Given the description of an element on the screen output the (x, y) to click on. 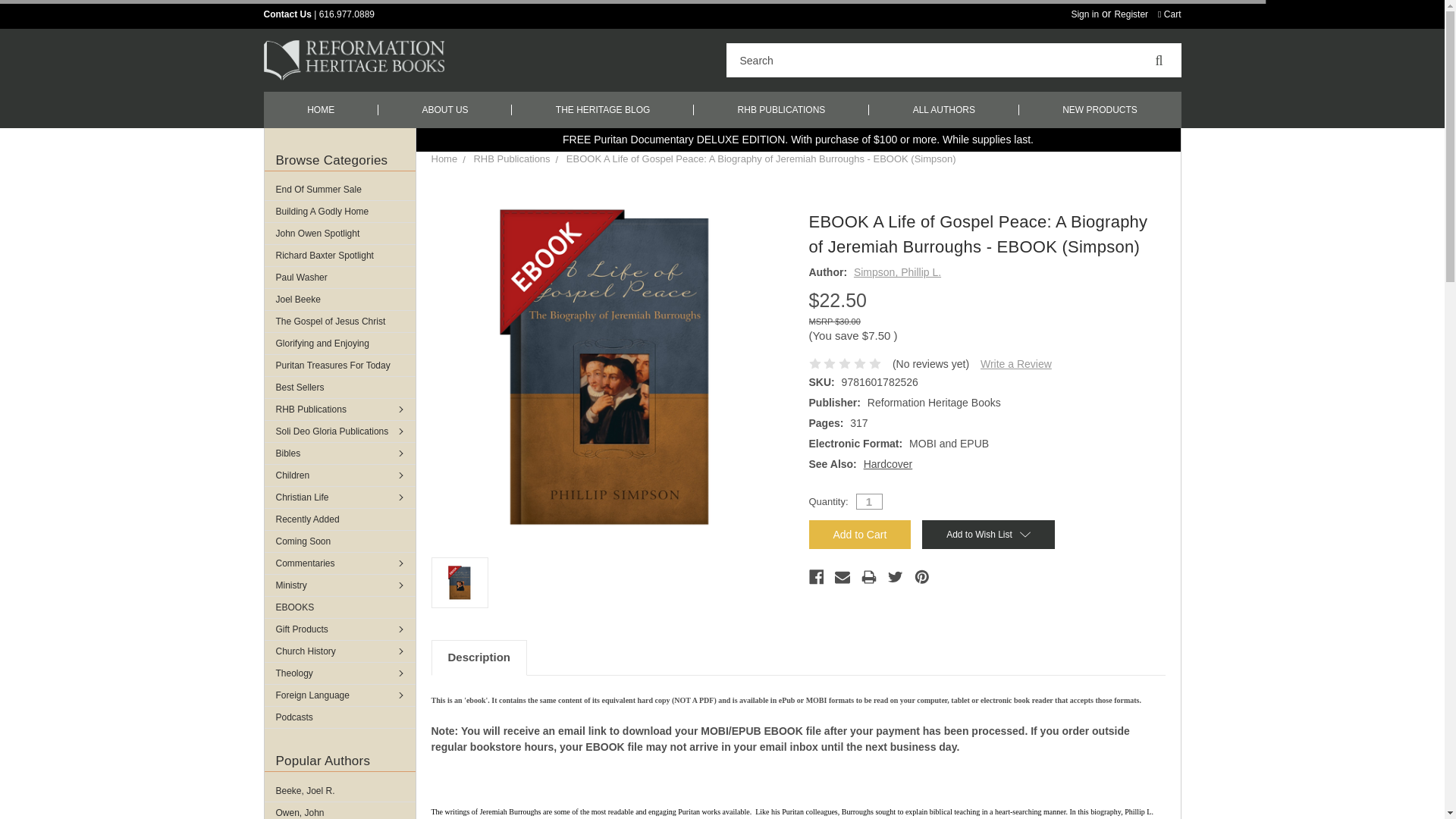
Best Sellers (338, 387)
Sign in (1084, 14)
email (842, 576)
facebook (816, 576)
twitter (895, 576)
Glorifying and Enjoying (338, 342)
Cart (1169, 14)
Joel Beeke (338, 299)
End Of Summer Sale (338, 189)
RHB Publications (338, 409)
